Given the description of an element on the screen output the (x, y) to click on. 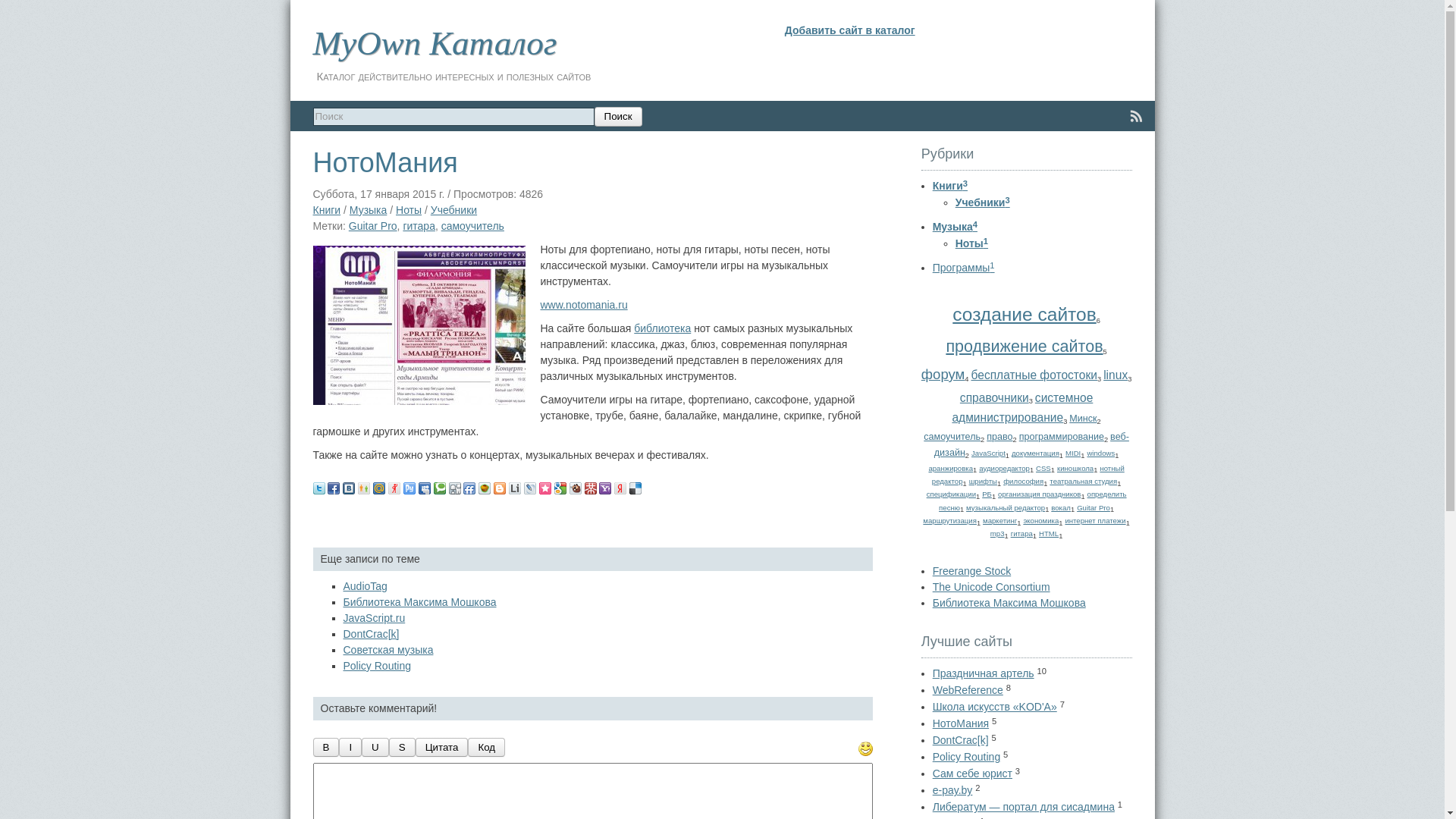
e-pay.by Element type: text (952, 790)
6 Element type: text (369, 514)
DontCrac[k] Element type: text (370, 633)
B Element type: text (325, 746)
windows Element type: text (1100, 452)
WebReference Element type: text (967, 690)
CSS Element type: text (1043, 468)
Freerange Stock Element type: text (971, 570)
5 Element type: text (359, 514)
2 Element type: text (331, 514)
Policy Routing Element type: text (376, 665)
I Element type: text (349, 746)
3 Element type: text (340, 514)
HTML Element type: text (1048, 533)
linux Element type: text (1115, 374)
Guitar Pro Element type: text (1093, 507)
RSS Element type: hover (1136, 116)
9 Element type: text (397, 514)
MIDI Element type: text (1072, 452)
4 Element type: text (350, 514)
JavaScript.ru Element type: text (373, 617)
Policy Routing Element type: text (966, 756)
The Unicode Consortium Element type: text (991, 586)
8 Element type: text (388, 514)
1 Element type: text (321, 514)
mp3 Element type: text (997, 533)
AudioTag Element type: text (364, 586)
10 Element type: text (407, 514)
7 Element type: text (378, 514)
S Element type: text (402, 746)
JavaScript Element type: text (988, 452)
DontCrac[k] Element type: text (960, 740)
Guitar Pro Element type: text (372, 225)
U Element type: text (375, 746)
www.notomania.ru Element type: text (583, 304)
